Given the description of an element on the screen output the (x, y) to click on. 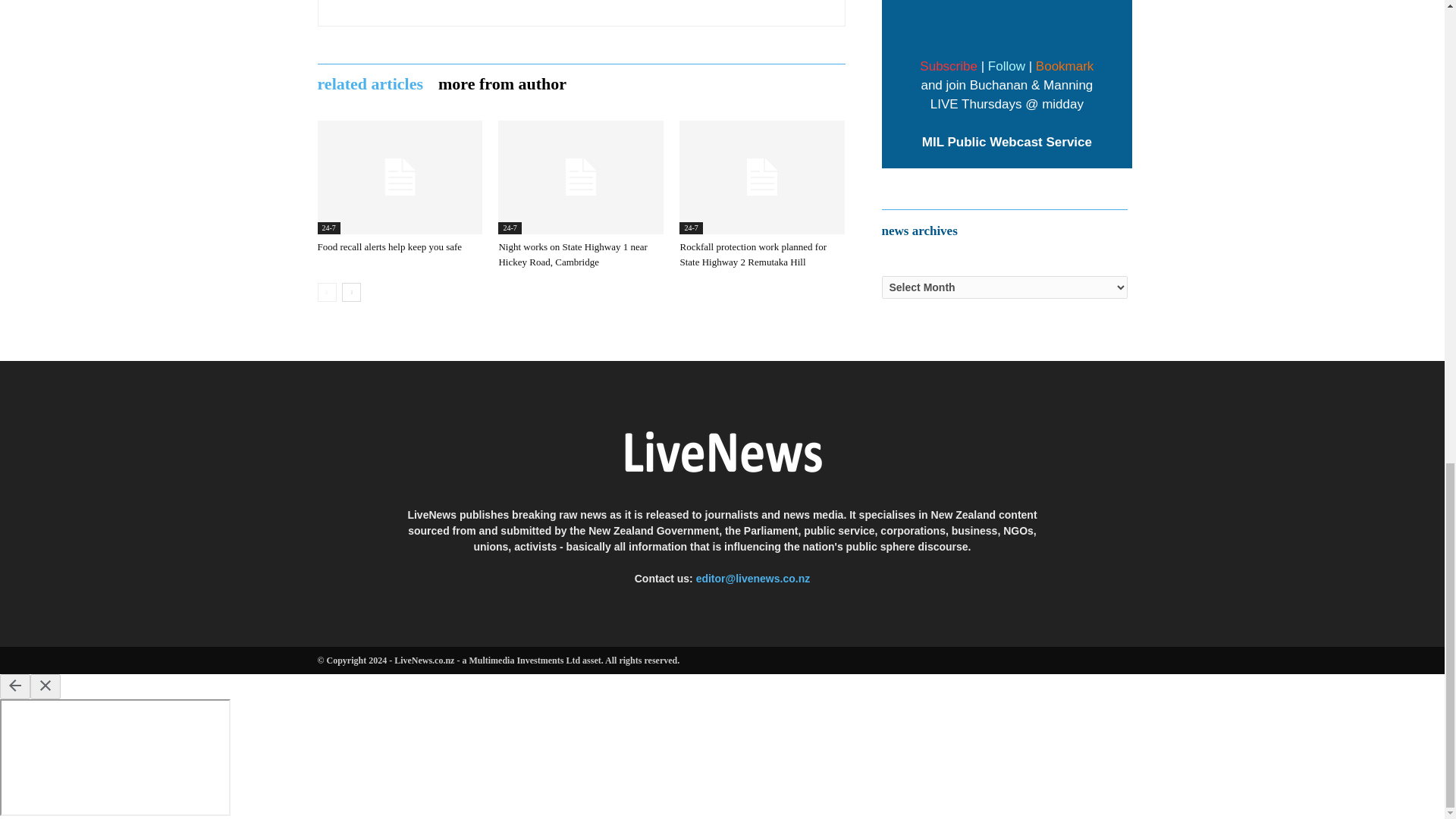
Food recall alerts help keep you safe (399, 177)
Night works on State Highway 1 near Hickey Road, Cambridge (571, 253)
Food recall alerts help keep you safe (389, 246)
YouTube video player (1007, 26)
Night works on State Highway 1 near Hickey Road, Cambridge (580, 177)
